Given the description of an element on the screen output the (x, y) to click on. 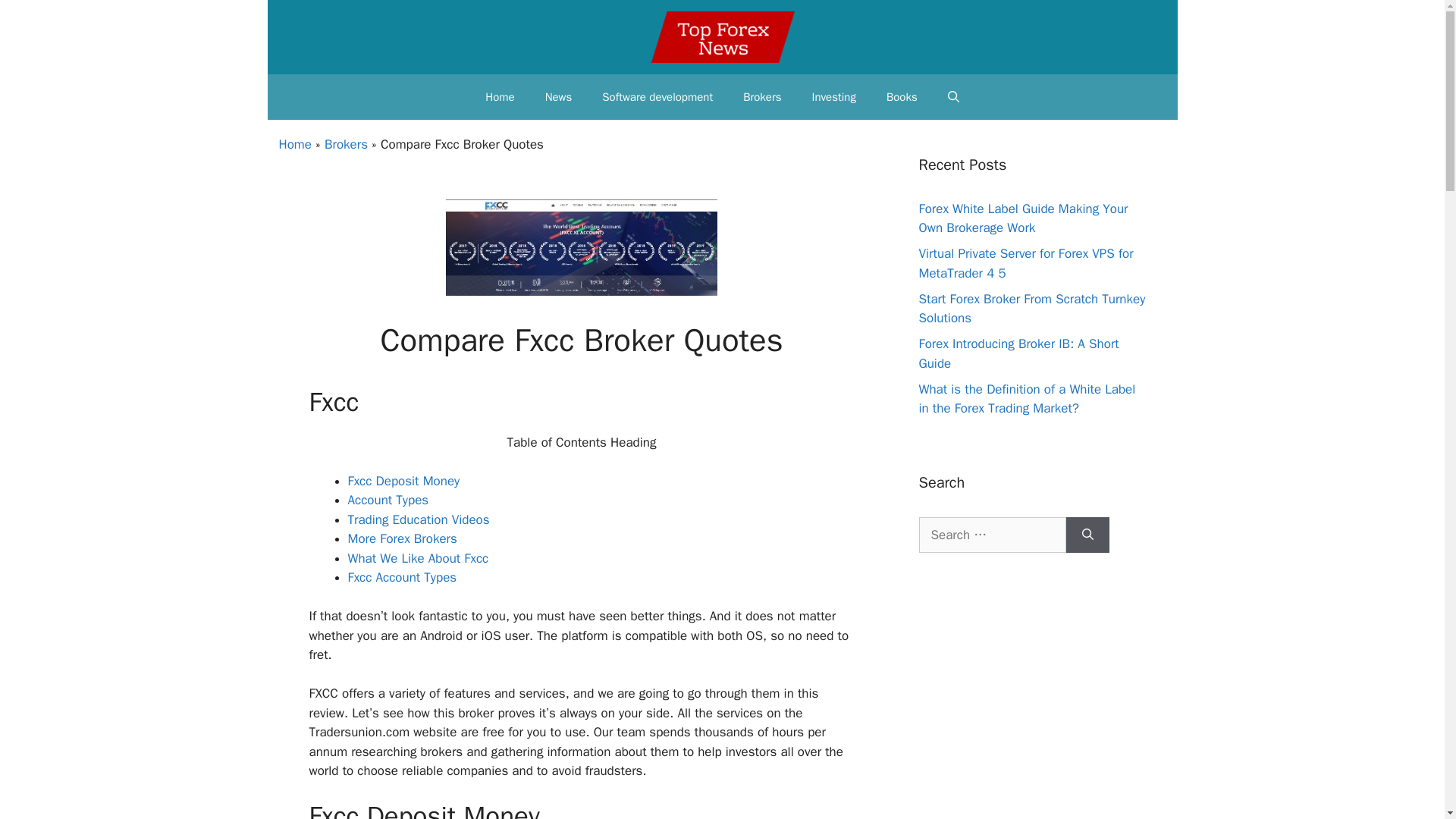
Home (499, 96)
News (558, 96)
TopForexNews.org (722, 37)
Fxcc Deposit Money (403, 480)
Forex White Label Guide Making Your Own Brokerage Work (1023, 218)
Books (901, 96)
Trading Education Videos (418, 519)
Account Types (387, 499)
Fxcc Account Types (402, 577)
More Forex Brokers (402, 538)
Brokers (762, 96)
Investing (833, 96)
Virtual Private Server for Forex VPS for MetaTrader 4 5 (1026, 263)
Start Forex Broker From Scratch Turnkey Solutions (1031, 308)
